Given the description of an element on the screen output the (x, y) to click on. 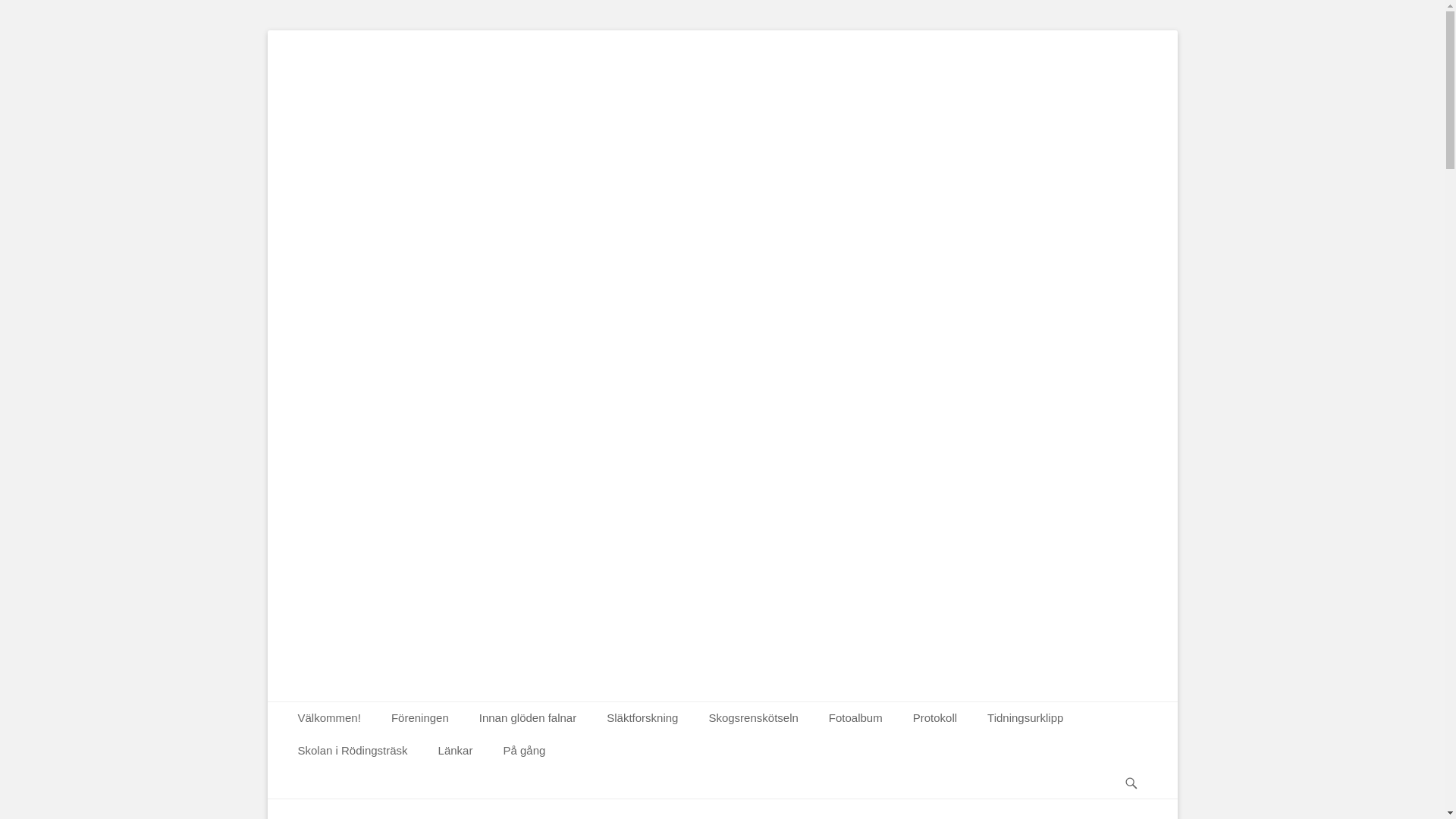
Fotoalbum (855, 717)
